Given the description of an element on the screen output the (x, y) to click on. 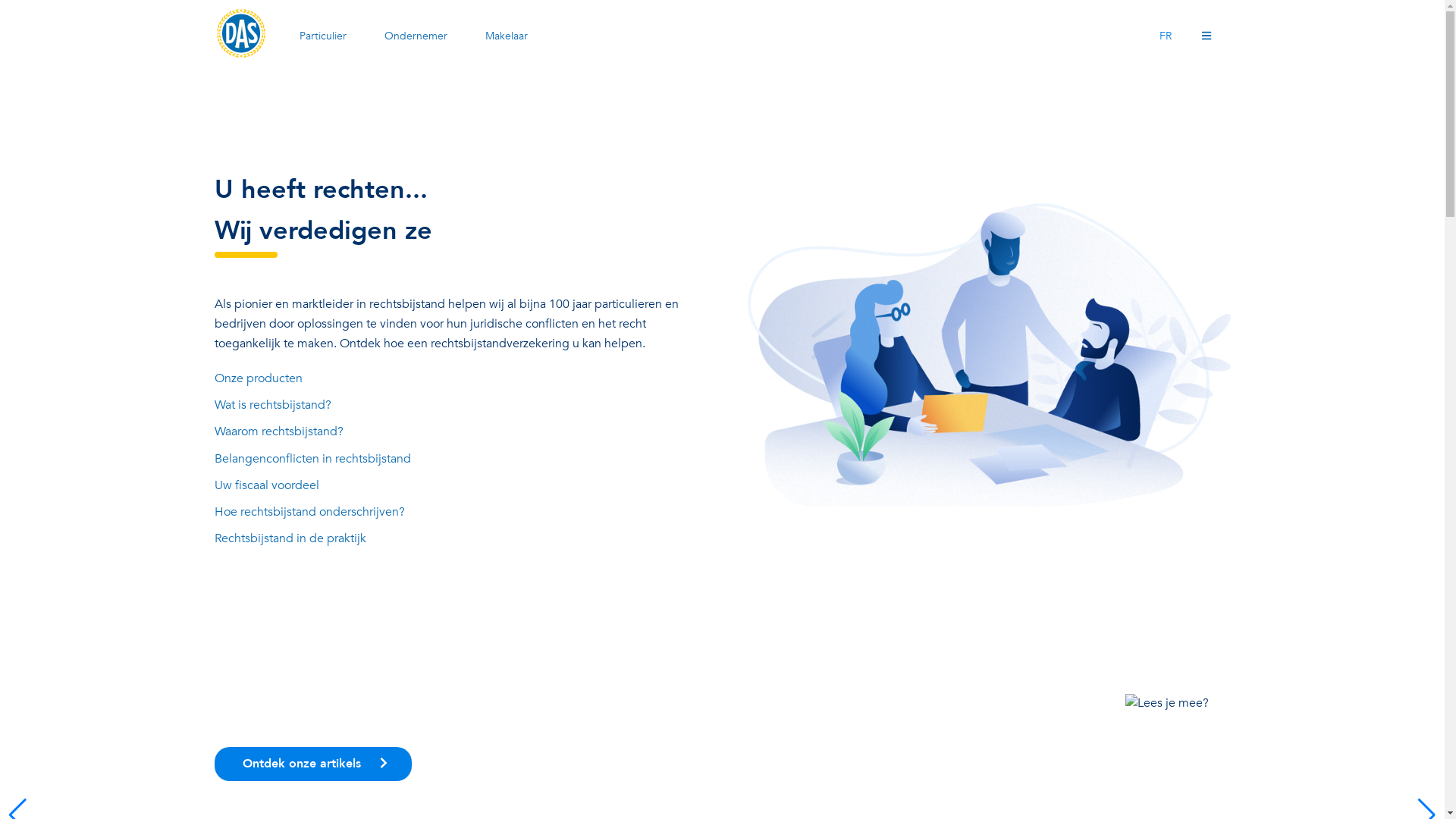
FR Element type: text (1165, 35)
Onze producten Element type: text (454, 379)
 Ontdek onze artikels  Element type: text (312, 763)
Wat is rechtsbijstand? Element type: text (454, 405)
Rechtsbijstand in de praktijk Element type: text (454, 539)
Uw fiscaal voordeel Element type: text (454, 485)
Hoe rechtsbijstand onderschrijven? Element type: text (454, 512)
Waarom rechtsbijstand? Element type: text (454, 432)
Belangenconflicten in rechtsbijstand Element type: text (454, 459)
